Given the description of an element on the screen output the (x, y) to click on. 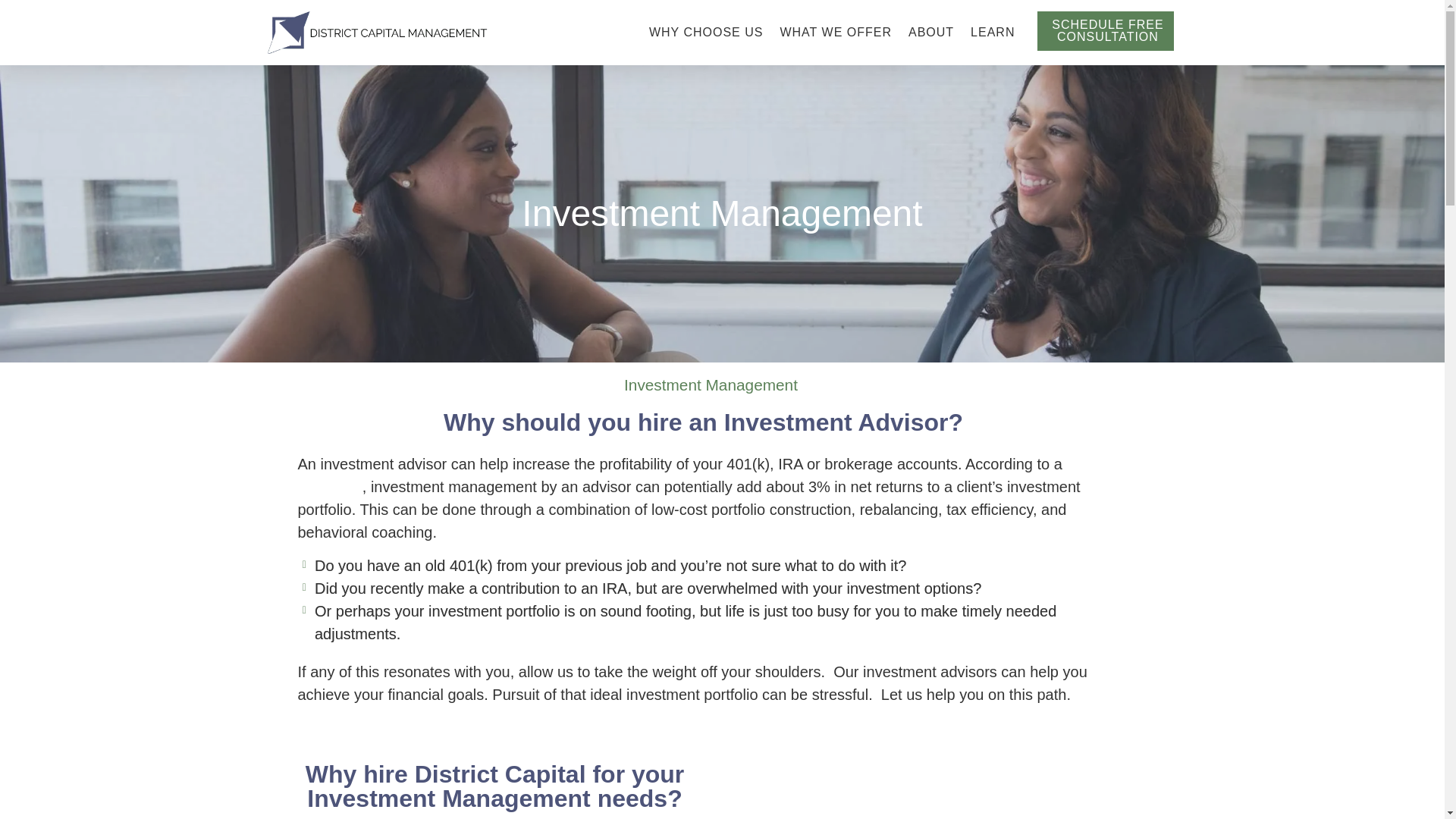
ABOUT (930, 32)
SCHEDULE FREE CONSULTATION (1104, 30)
LEARN (992, 32)
WHAT WE OFFER (834, 32)
WHY CHOOSE US (705, 32)
